Given the description of an element on the screen output the (x, y) to click on. 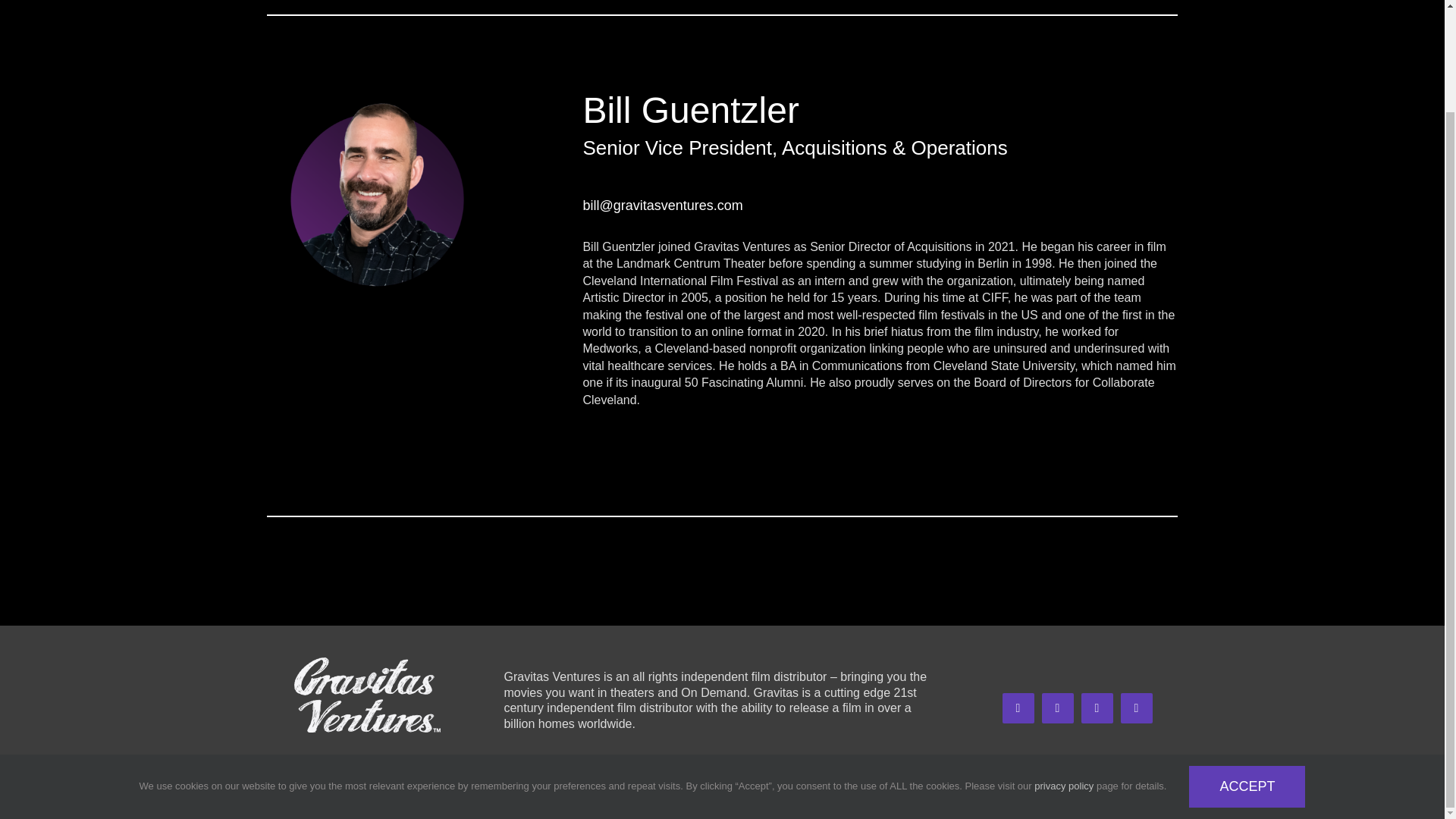
privacy policy (1063, 667)
ACCEPT (1246, 668)
WordPress (505, 779)
Gravitas Ventures Logo (367, 694)
